Given the description of an element on the screen output the (x, y) to click on. 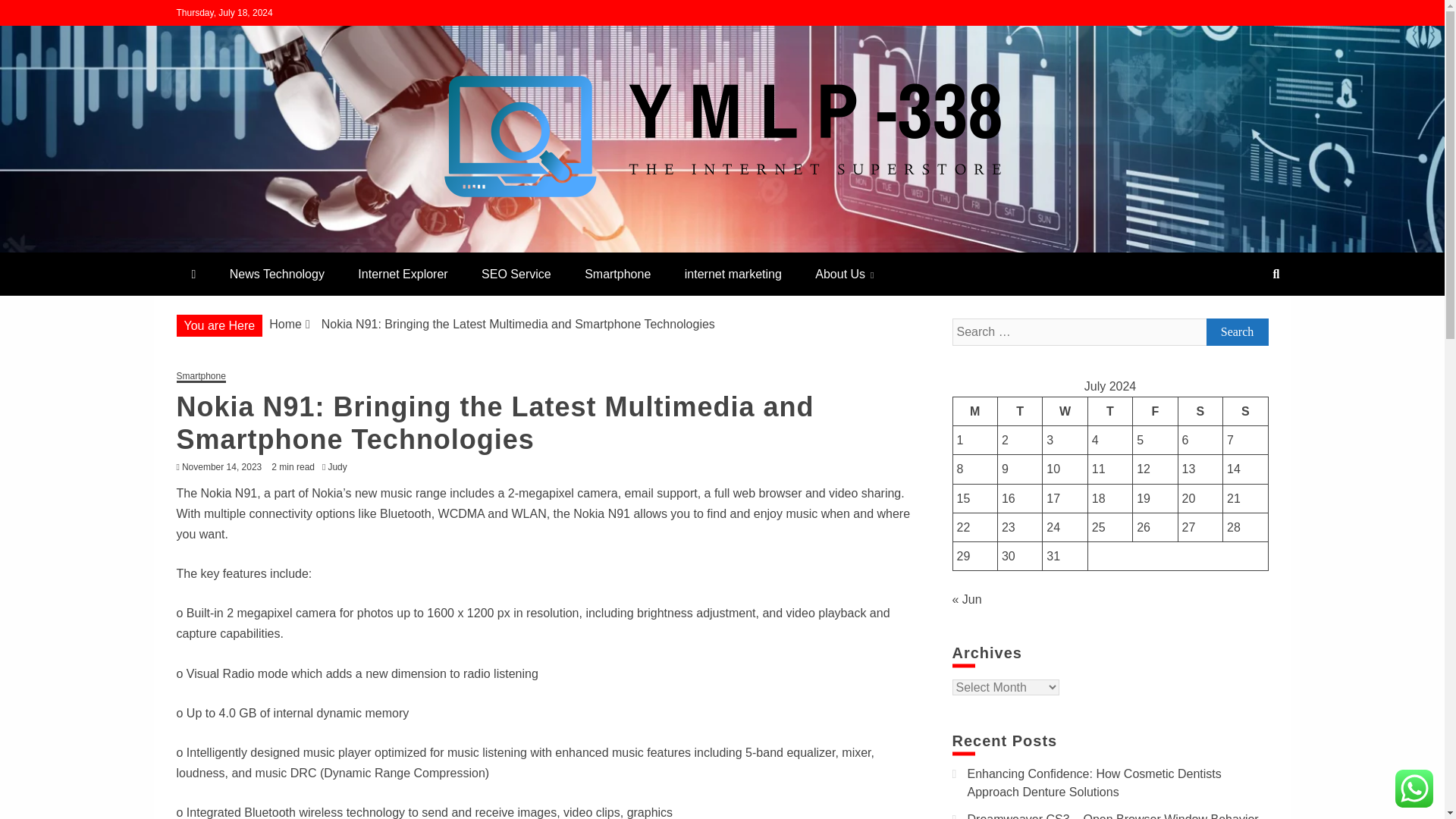
Judy (340, 466)
Search (1236, 331)
November 14, 2023 (222, 466)
Monday (974, 410)
Friday (1154, 410)
Home (285, 323)
Wednesday (1064, 410)
SEO Service (515, 273)
Smartphone (617, 273)
Smartphone (200, 377)
News Technology (276, 273)
Y M L P -338 (259, 245)
Search (1236, 331)
Thursday (1109, 410)
Search (31, 13)
